Given the description of an element on the screen output the (x, y) to click on. 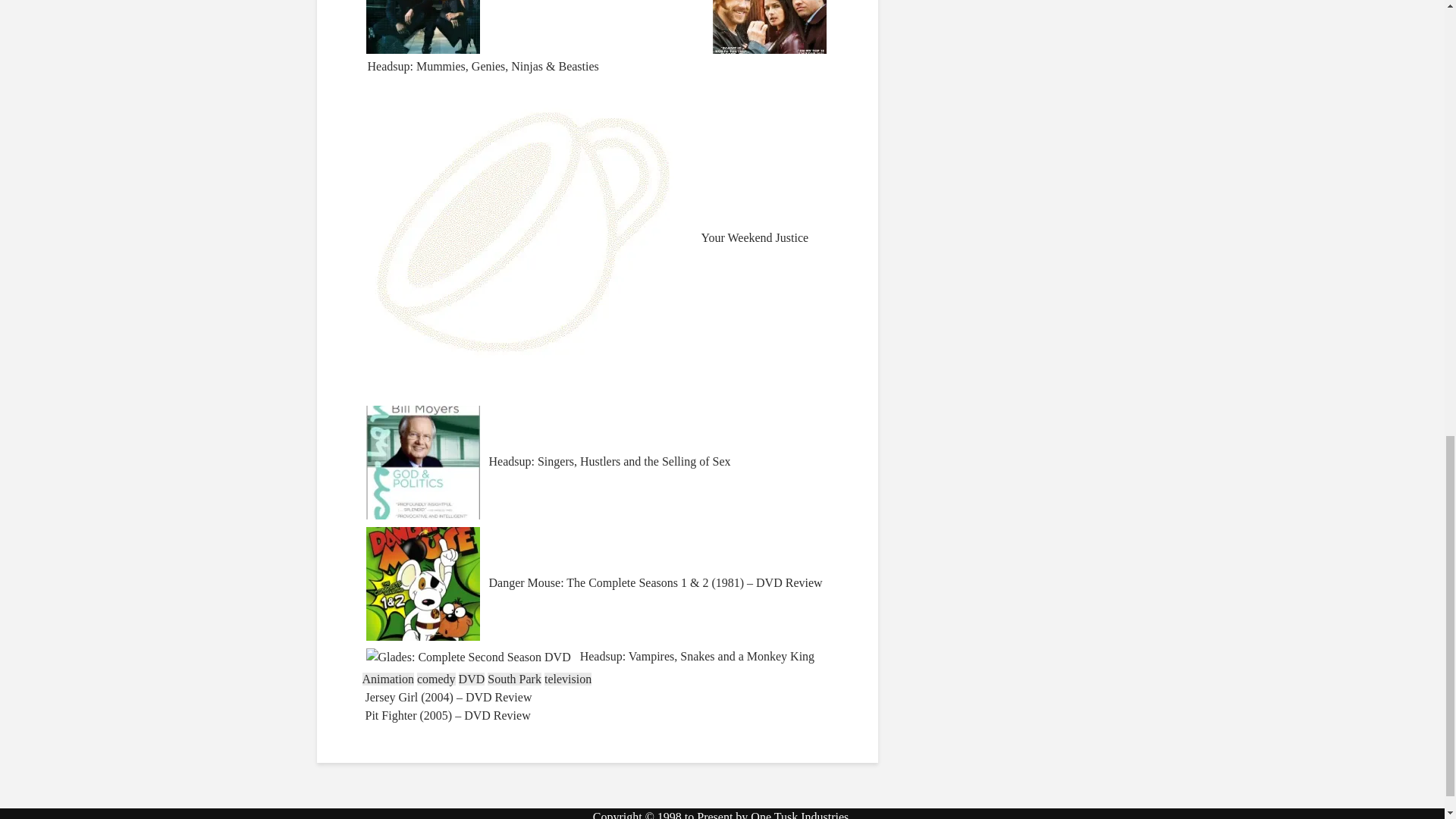
Your Weekend Justice (587, 237)
Headsup: Singers, Hustlers and the Selling of Sex (549, 461)
Headsup: Vampires, Snakes and a Monkey King (596, 693)
comedy (435, 678)
Headsup: Singers, Hustlers and the Selling of Sex (549, 461)
Headsup: Vampires, Snakes and a Monkey King (596, 693)
Your Weekend Justice (587, 237)
South Park (514, 678)
